Given the description of an element on the screen output the (x, y) to click on. 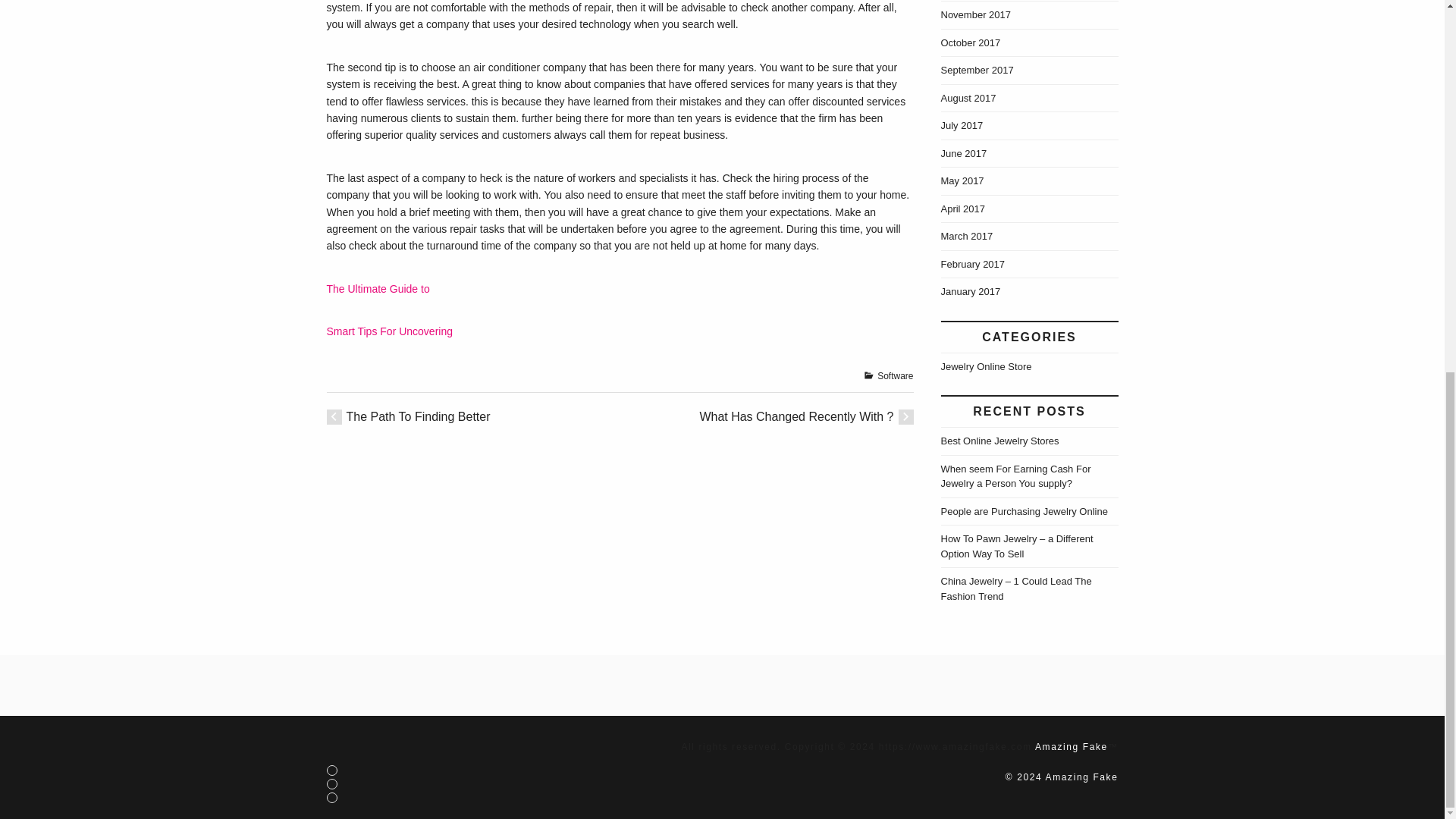
May 2017 (962, 180)
April 2017 (962, 208)
January 2017 (970, 291)
September 2017 (976, 70)
June 2017 (963, 152)
Jewelry Online Store (985, 366)
November 2017 (975, 14)
August 2017 (967, 98)
Smart Tips For Uncovering (389, 331)
The Path To Finding Better (417, 416)
People are Purchasing Jewelry Online (1023, 510)
What Has Changed Recently With ? (795, 416)
October 2017 (970, 41)
March 2017 (966, 235)
Software (894, 376)
